Given the description of an element on the screen output the (x, y) to click on. 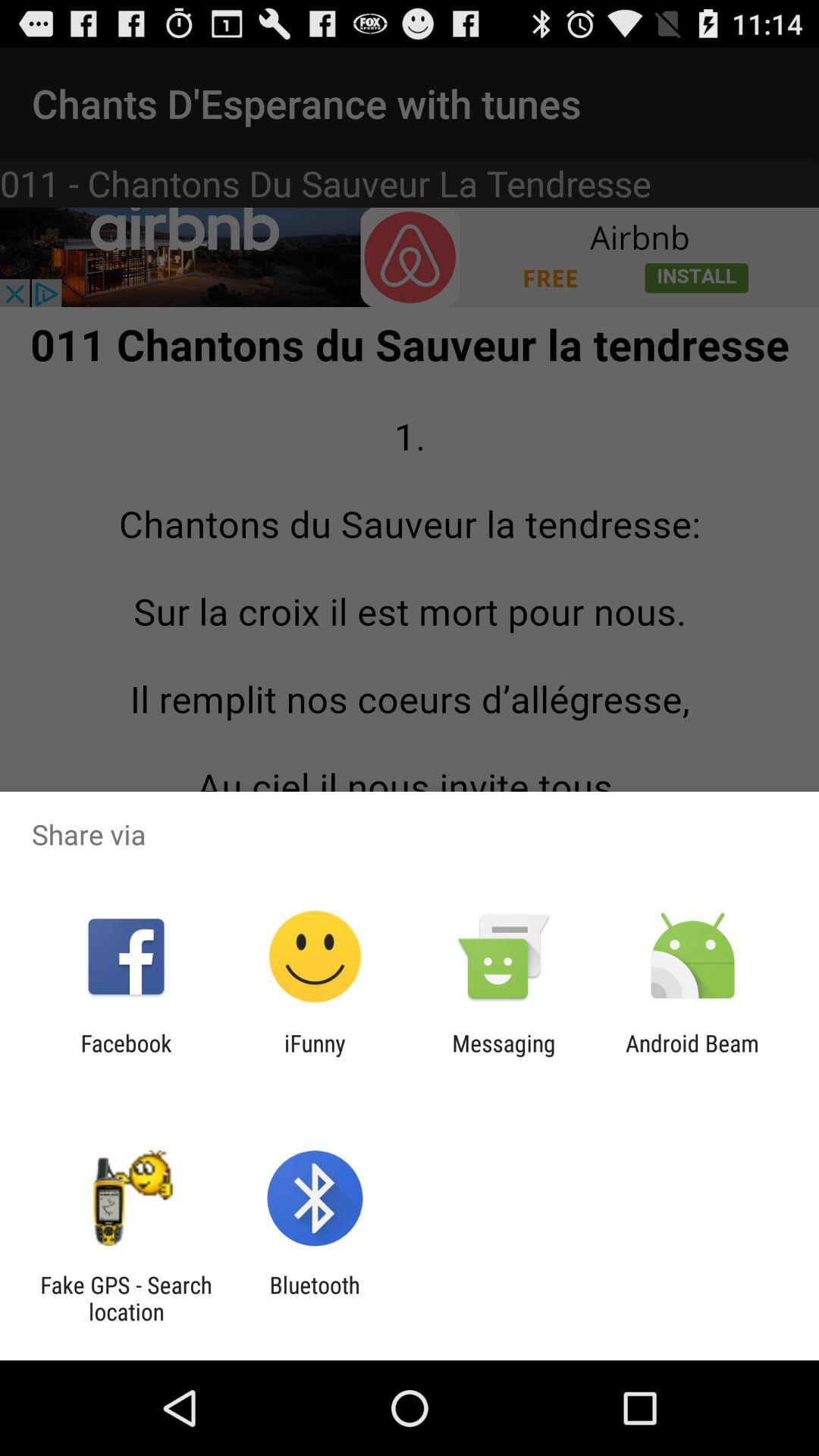
swipe until android beam (692, 1056)
